Given the description of an element on the screen output the (x, y) to click on. 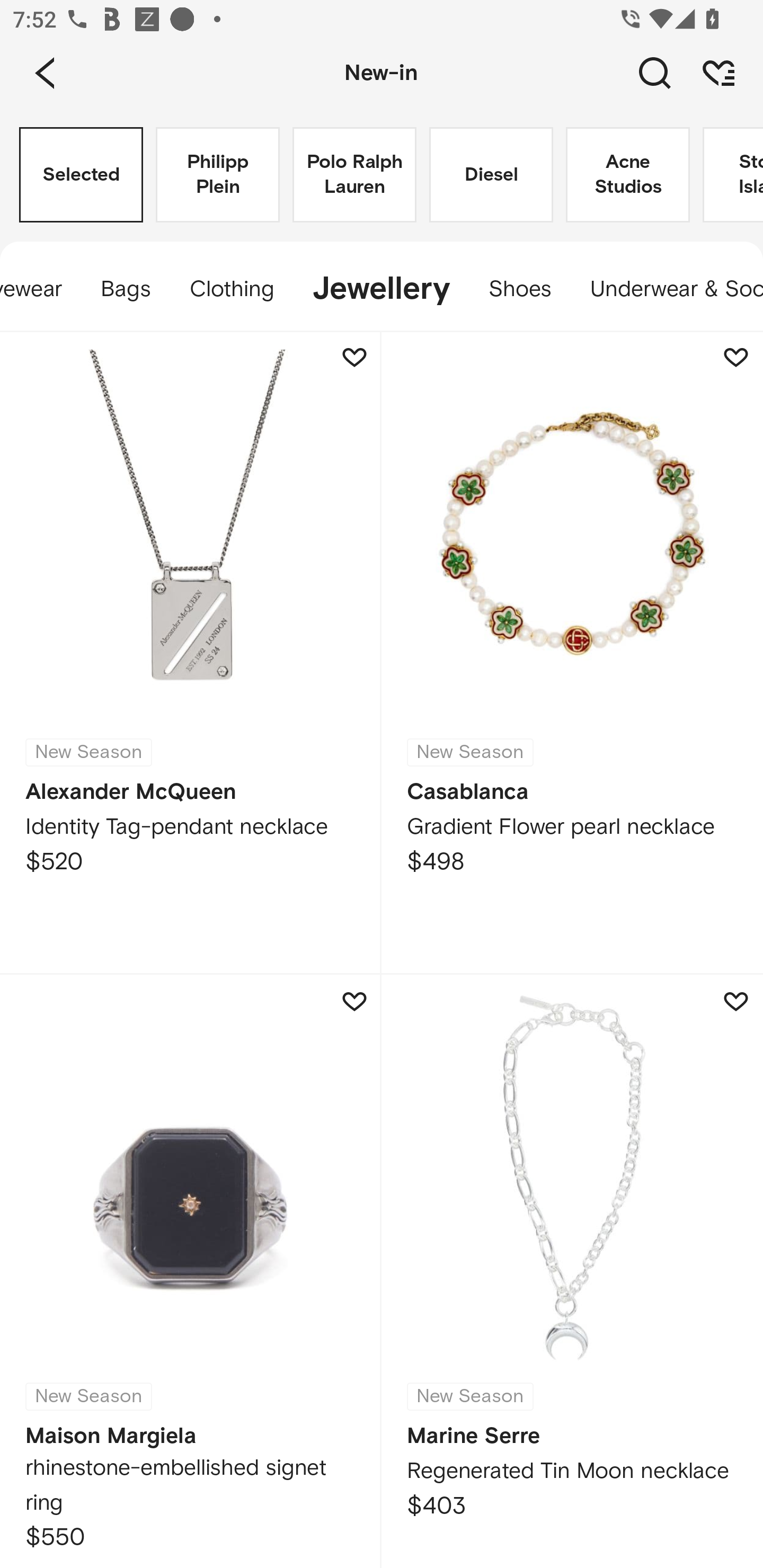
Selected (81, 174)
Philipp Plein (217, 174)
Polo Ralph Lauren (354, 174)
Diesel (490, 174)
Acne Studios (627, 174)
Activewear (40, 289)
Bags (125, 289)
Clothing (231, 289)
Jewellery (380, 289)
Shoes (519, 289)
Underwear & Socks (666, 289)
